Given the description of an element on the screen output the (x, y) to click on. 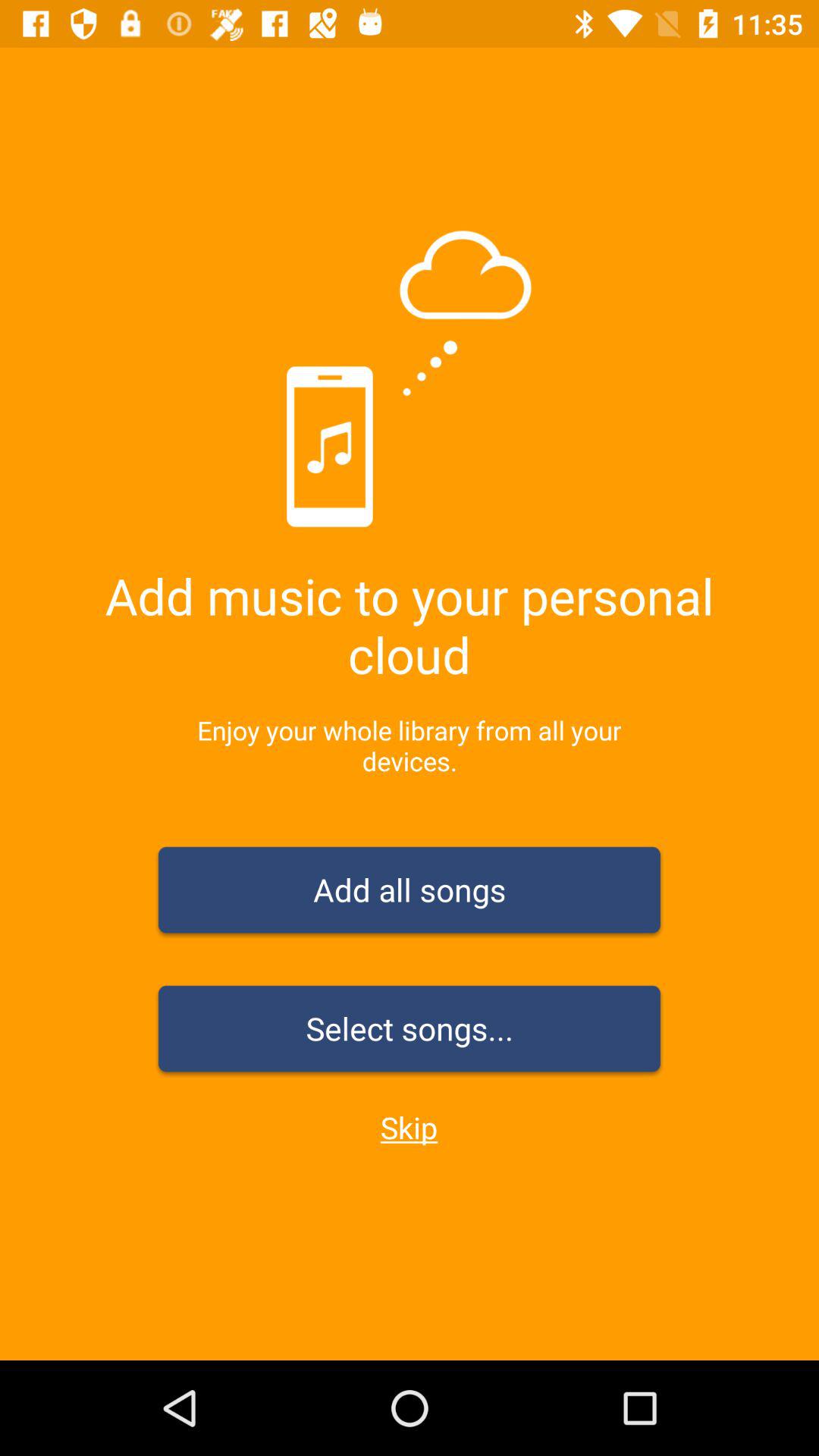
launch the item above select songs... item (409, 892)
